Given the description of an element on the screen output the (x, y) to click on. 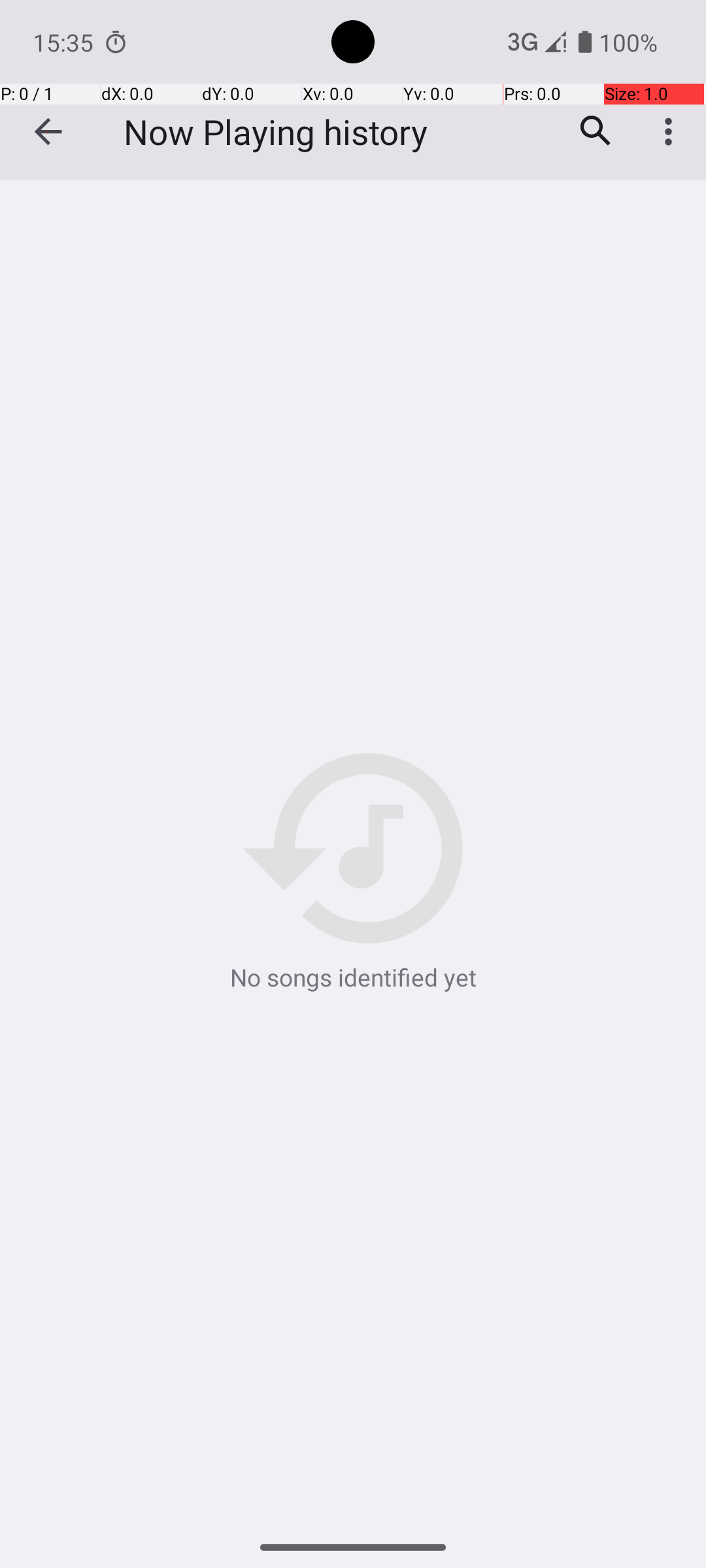
Now Playing history Element type: android.widget.TextView (275, 131)
No songs identified yet Element type: android.widget.TextView (353, 873)
